Given the description of an element on the screen output the (x, y) to click on. 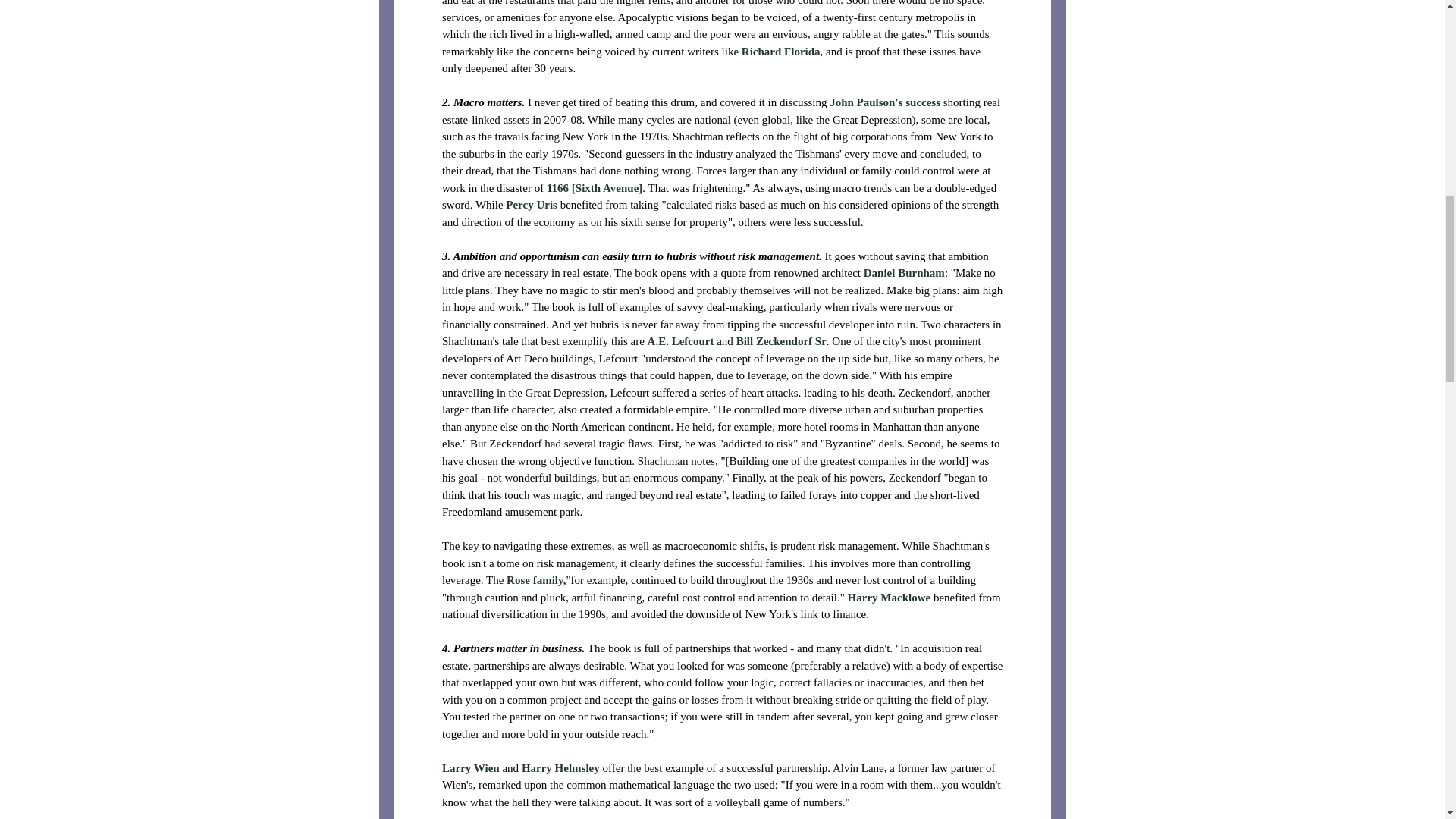
Larry Wien (470, 767)
Percy Uris (531, 204)
John Paulson's success (884, 102)
A.E. Lefcourt (679, 340)
Bill Zeckendorf Sr (780, 340)
Harry Macklowe (888, 597)
Daniel Burnham (903, 272)
Rose family, (536, 580)
Harry Helmsley (559, 767)
Richard Florida (780, 51)
